Given the description of an element on the screen output the (x, y) to click on. 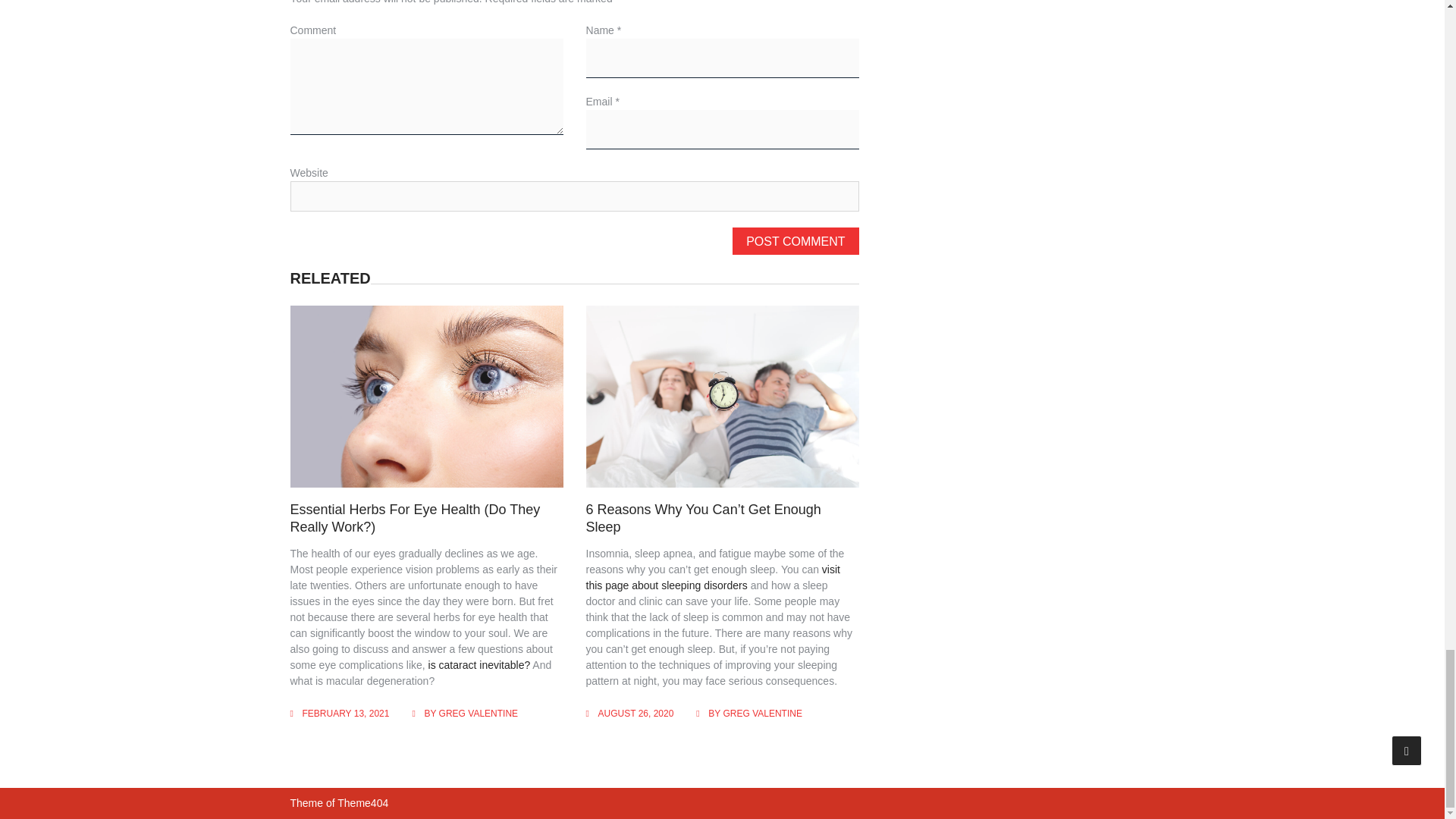
AUGUST 26, 2020 (636, 713)
GREG VALENTINE (478, 713)
Post Comment (795, 240)
FEBRUARY 13, 2021 (344, 713)
visit this page about sleeping disorders (713, 577)
Post Comment (795, 240)
GREG VALENTINE (762, 713)
is cataract inevitable? (479, 664)
